Given the description of an element on the screen output the (x, y) to click on. 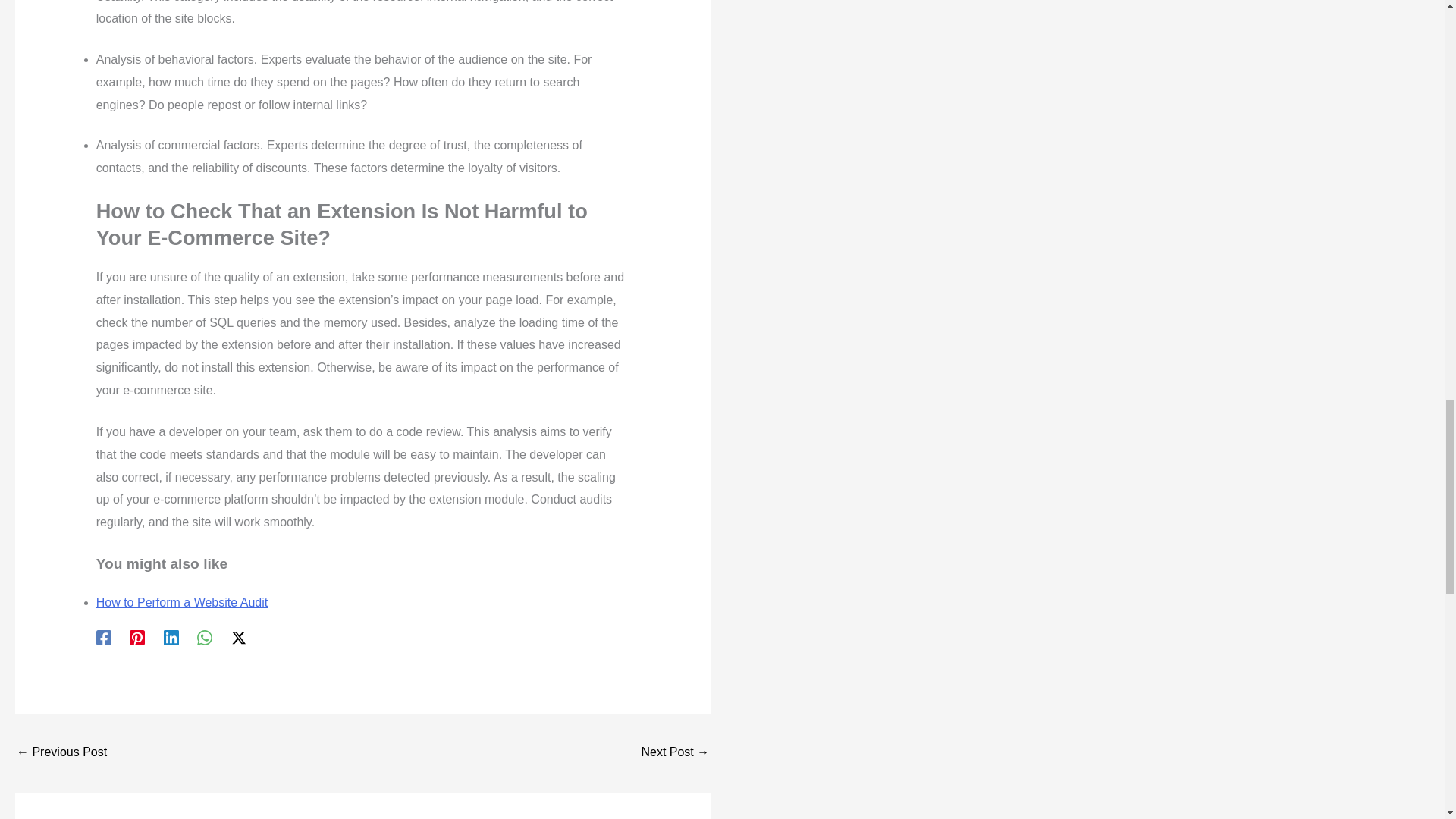
4 Vehicles For Passive Real Estate Investing (61, 753)
How to Perform a Website Audit (181, 602)
Bitcoin: Why Is the Government Losing Confidence in It? (674, 753)
